Given the description of an element on the screen output the (x, y) to click on. 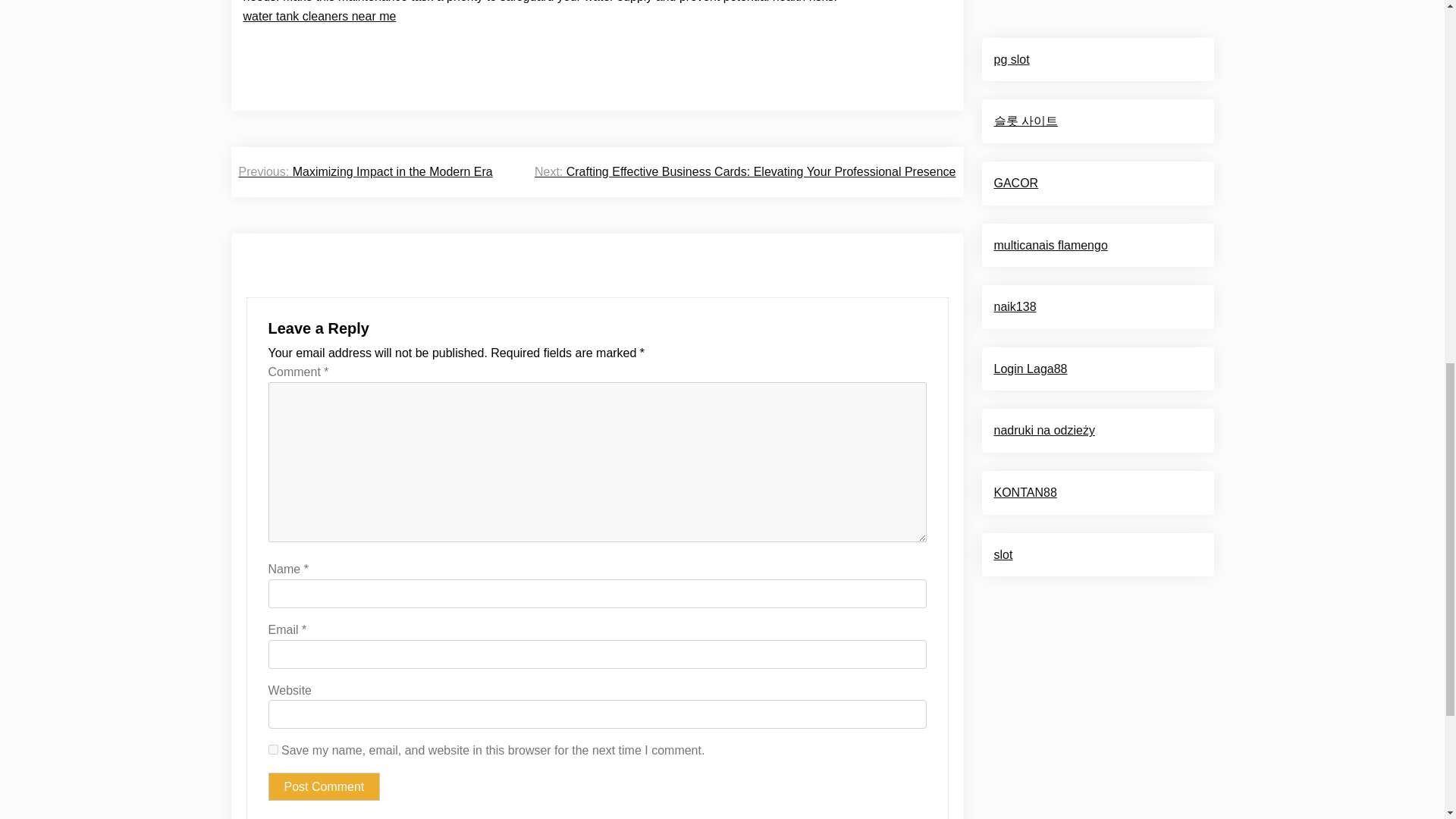
Post Comment (323, 787)
yes (272, 749)
